Given the description of an element on the screen output the (x, y) to click on. 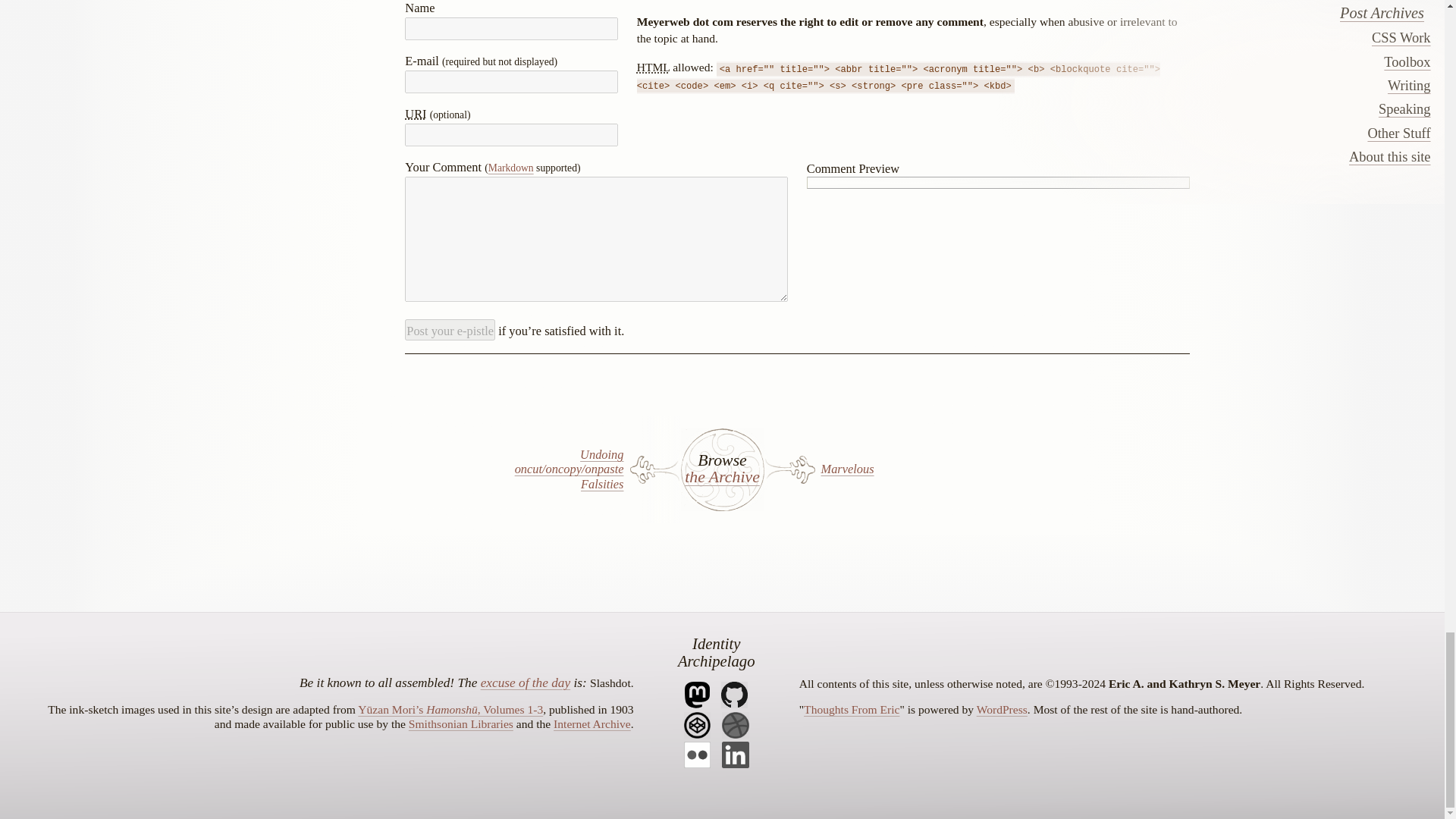
Markdown (510, 167)
Post your e-pistle (449, 329)
Hypertext Markup Language (653, 66)
Post your e-pistle (449, 329)
Uniform Resource Identifier (415, 114)
the Archive (722, 477)
In English: Wave Forms (451, 708)
Marvelous (880, 468)
